Given the description of an element on the screen output the (x, y) to click on. 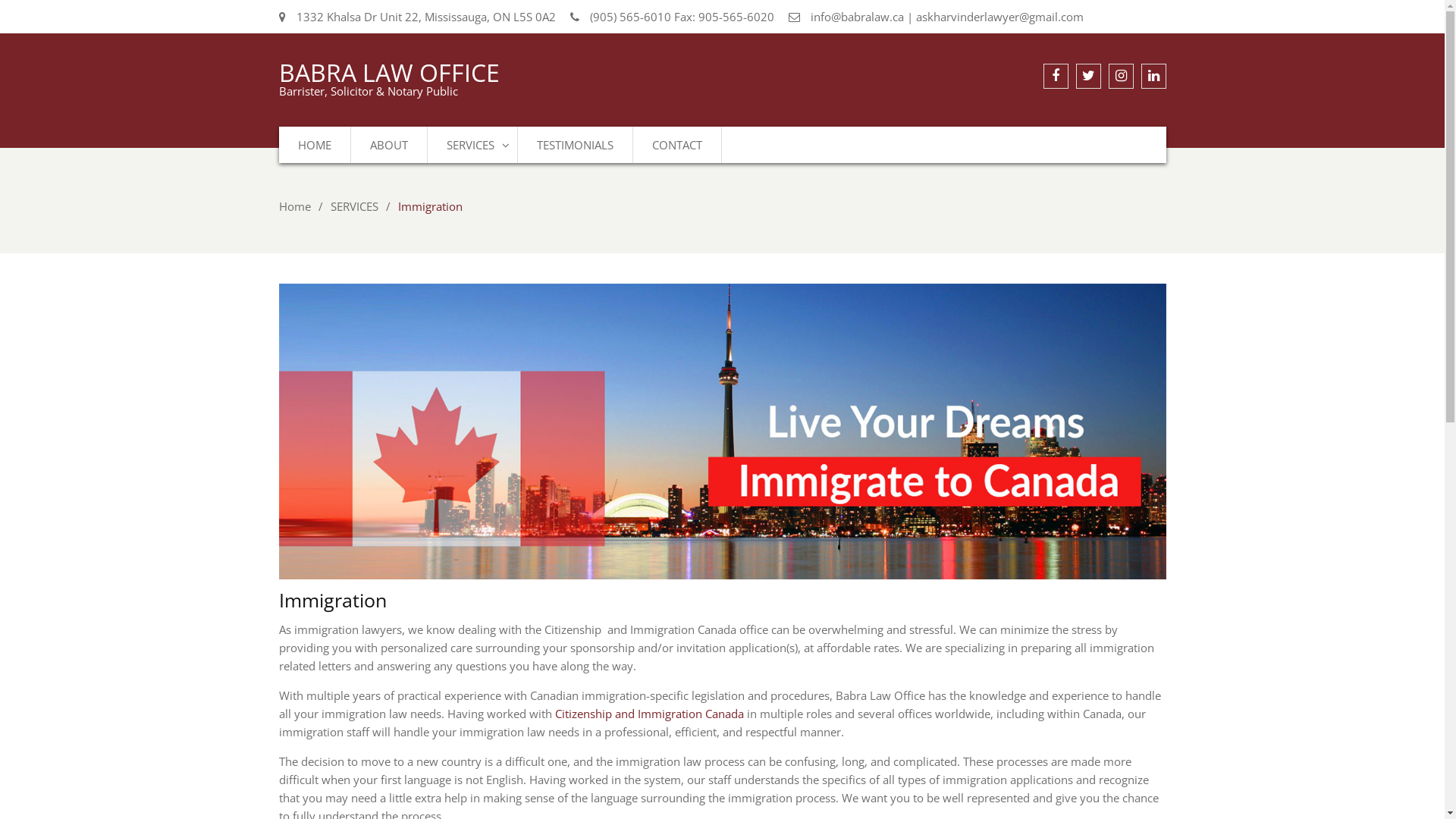
Citizenship and Immigration Canada Element type: text (649, 713)
fa-facebook Element type: text (1055, 75)
fa-instagram Element type: text (1120, 75)
ABOUT Element type: text (388, 144)
SERVICES Element type: text (354, 205)
SERVICES Element type: text (472, 144)
TESTIMONIALS Element type: text (574, 144)
BABRA LAW OFFICE Element type: text (389, 72)
Home Element type: text (294, 205)
fa-linkedin Element type: text (1152, 75)
fa-twitter Element type: text (1087, 75)
CONTACT Element type: text (676, 144)
HOME Element type: text (315, 144)
